Given the description of an element on the screen output the (x, y) to click on. 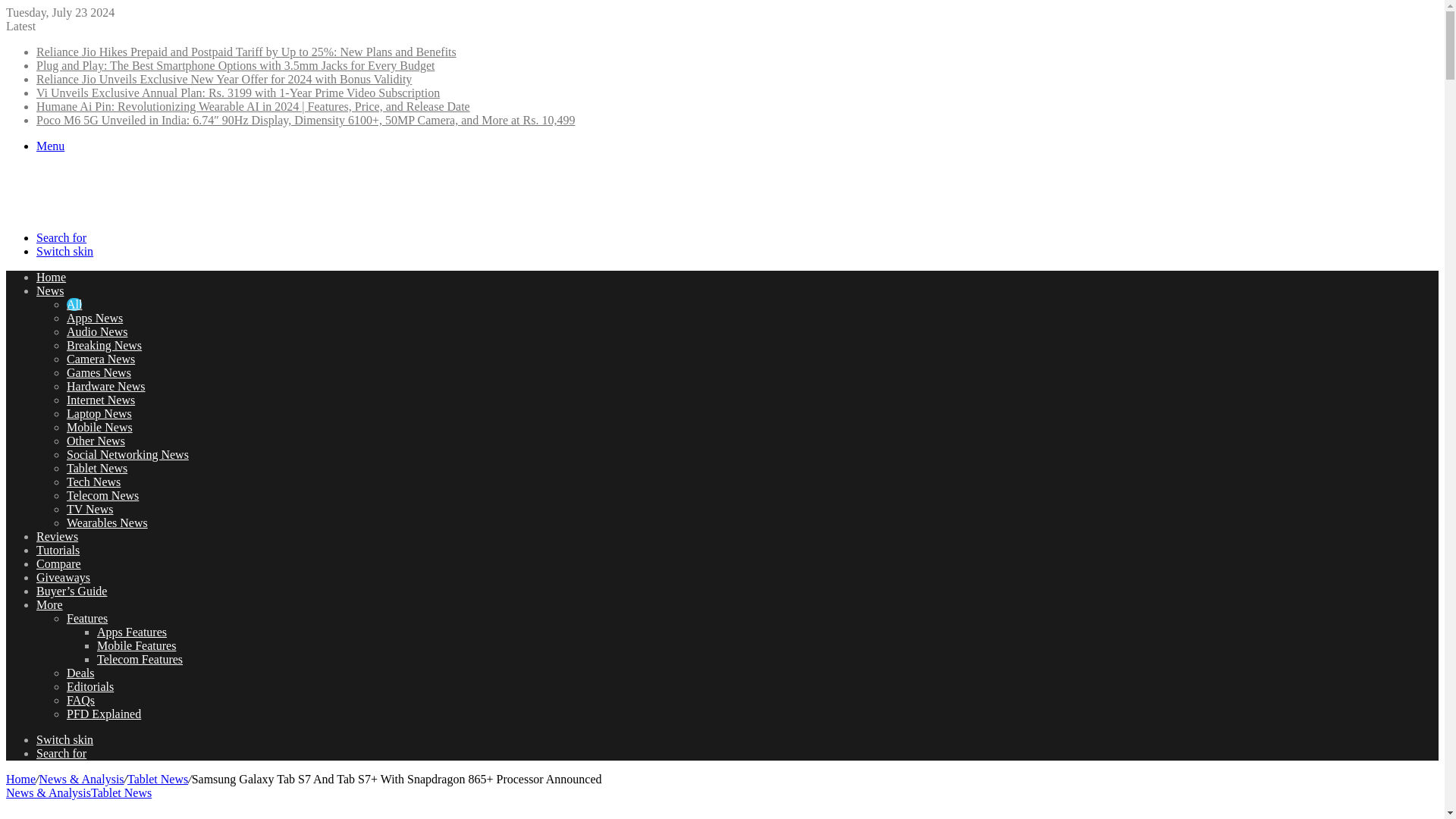
Deals (80, 672)
All (73, 304)
Hardware News (105, 386)
Switch skin (64, 739)
Wearables News (107, 522)
Giveaways (63, 576)
Mobile Features (136, 645)
PaidFreeDroid - Technology Simplified! (100, 211)
Compare (58, 563)
Tech News (93, 481)
Tablet News (97, 468)
TV News (89, 508)
Other News (95, 440)
Games News (98, 372)
